Given the description of an element on the screen output the (x, y) to click on. 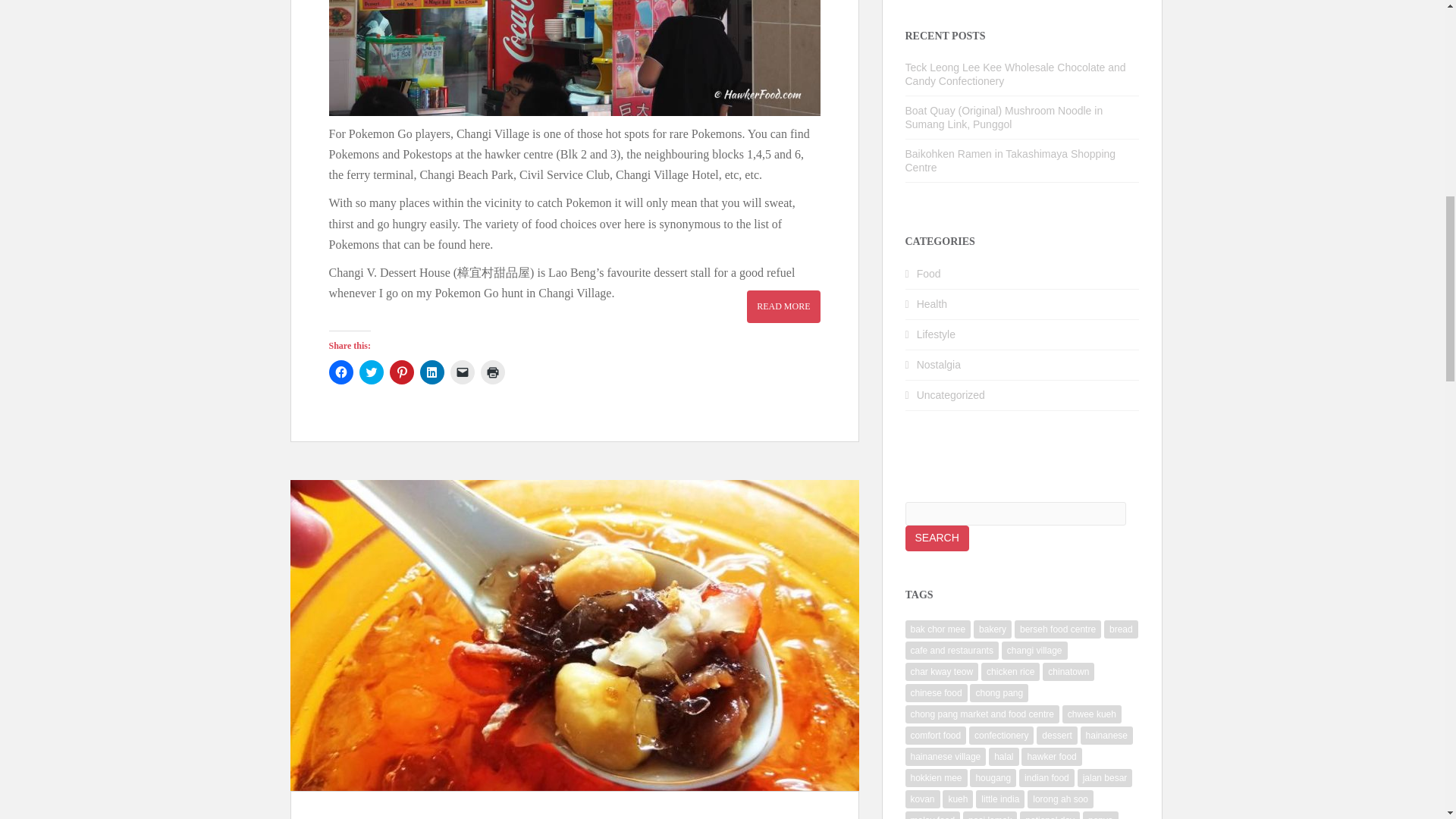
Click to share on Twitter (371, 372)
READ MORE (782, 306)
Click to email a link to a friend (461, 372)
Search (937, 538)
Click to share on Facebook (341, 372)
Click to share on LinkedIn (432, 372)
Click to print (492, 372)
Click to share on Pinterest (401, 372)
